Given the description of an element on the screen output the (x, y) to click on. 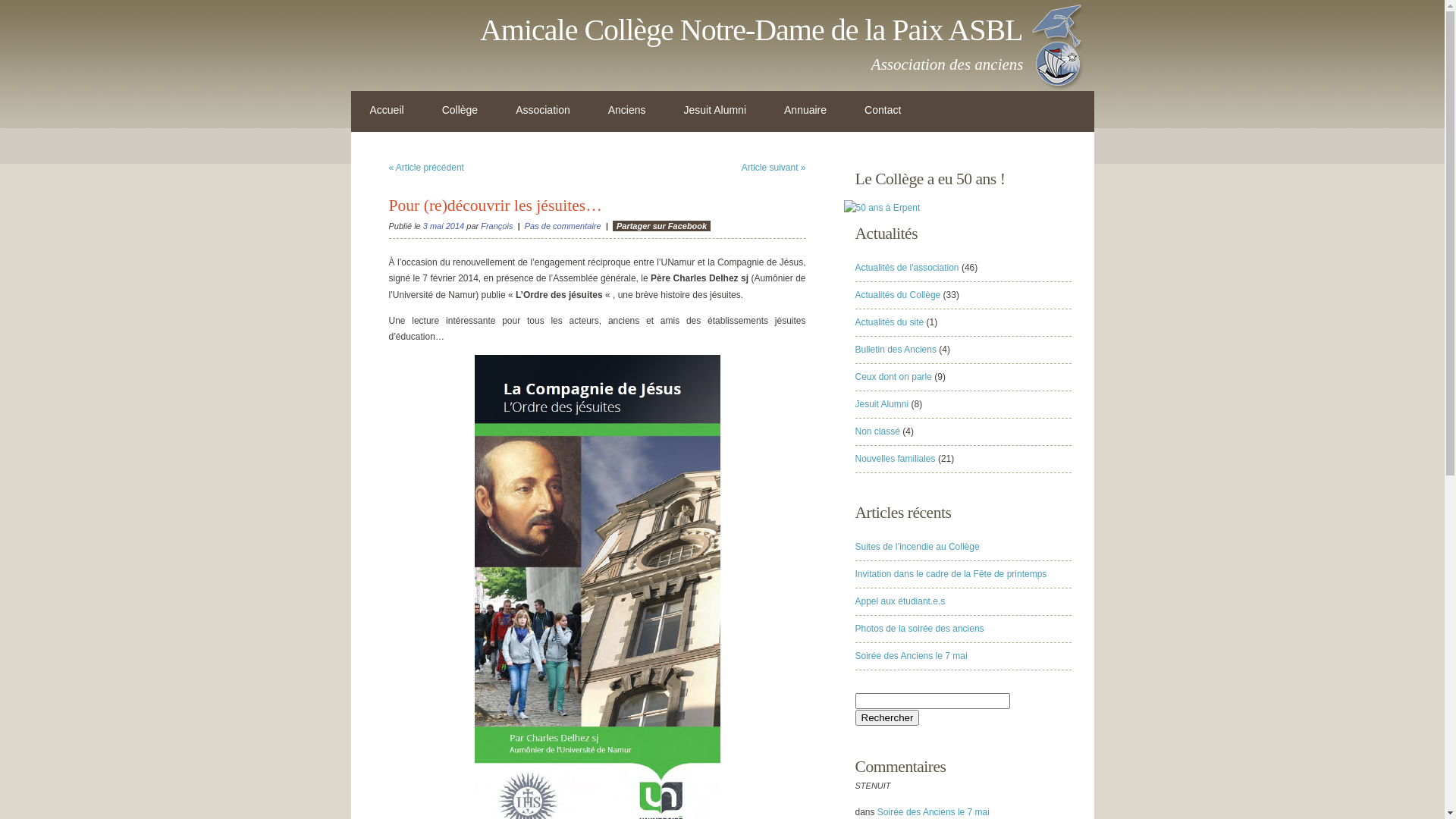
Anciens Element type: text (627, 111)
Jesuit Alumni Element type: text (715, 111)
Pas de commentaire Element type: text (562, 225)
Contact Element type: text (882, 111)
Nouvelles familiales Element type: text (895, 458)
Bulletin des Anciens Element type: text (895, 349)
Jesuit Alumni Element type: text (882, 403)
3 mai 2014 Element type: text (443, 225)
Association Element type: text (542, 111)
Partager sur Facebook Element type: text (661, 225)
Ceux dont on parle Element type: text (893, 376)
Annuaire Element type: text (805, 111)
Accueil Element type: text (386, 111)
Rechercher Element type: text (887, 717)
